Given the description of an element on the screen output the (x, y) to click on. 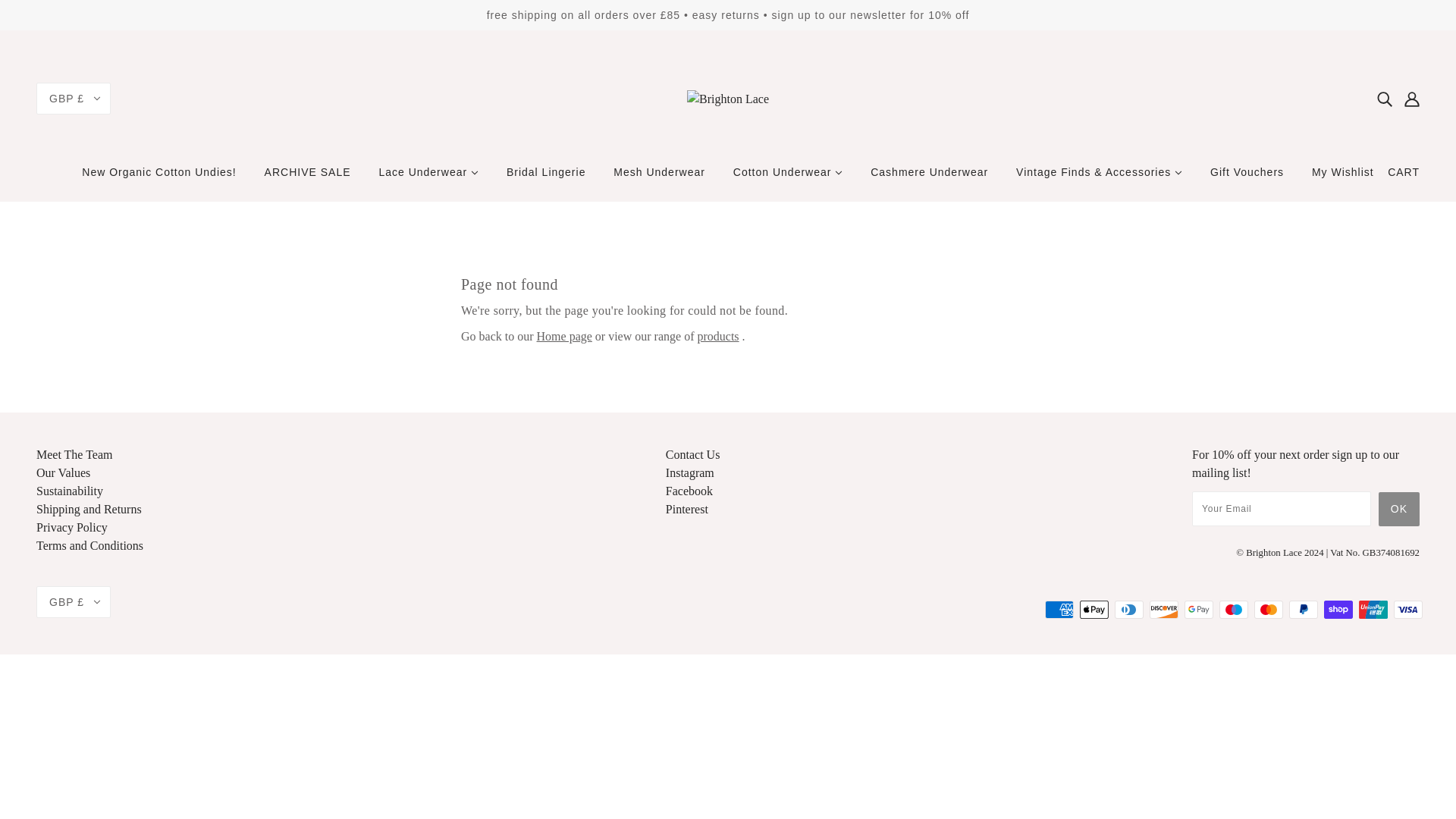
Pinterest (686, 508)
Union Pay (1372, 609)
Shop Pay (1337, 609)
Sustainability (69, 490)
Google Pay (1198, 609)
Mastercard (1267, 609)
Visa (1407, 609)
PayPal (1302, 609)
Contact Us (692, 454)
Shipping and Returns (88, 508)
